Given the description of an element on the screen output the (x, y) to click on. 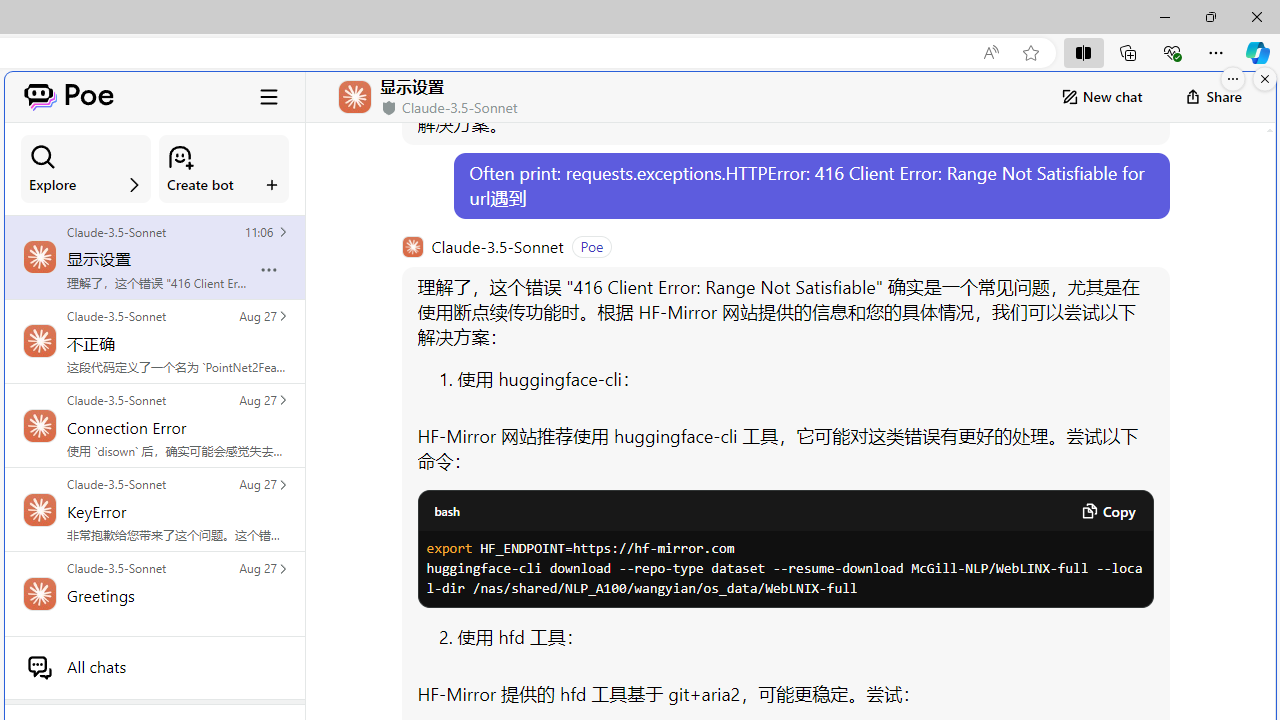
Split screen (1083, 52)
Class: ChatHistoryListItem_chevronIcon__zJZSN (282, 568)
Class: ManageBotsCardSection_labelIcon__EjW_j (271, 183)
Toggle sidebar collapse (269, 96)
Create bot (223, 169)
Close (1256, 16)
New chat (1101, 96)
Bot image for Claude-3.5-Sonnet (411, 246)
Copy (1107, 511)
Collections (1128, 52)
